Given the description of an element on the screen output the (x, y) to click on. 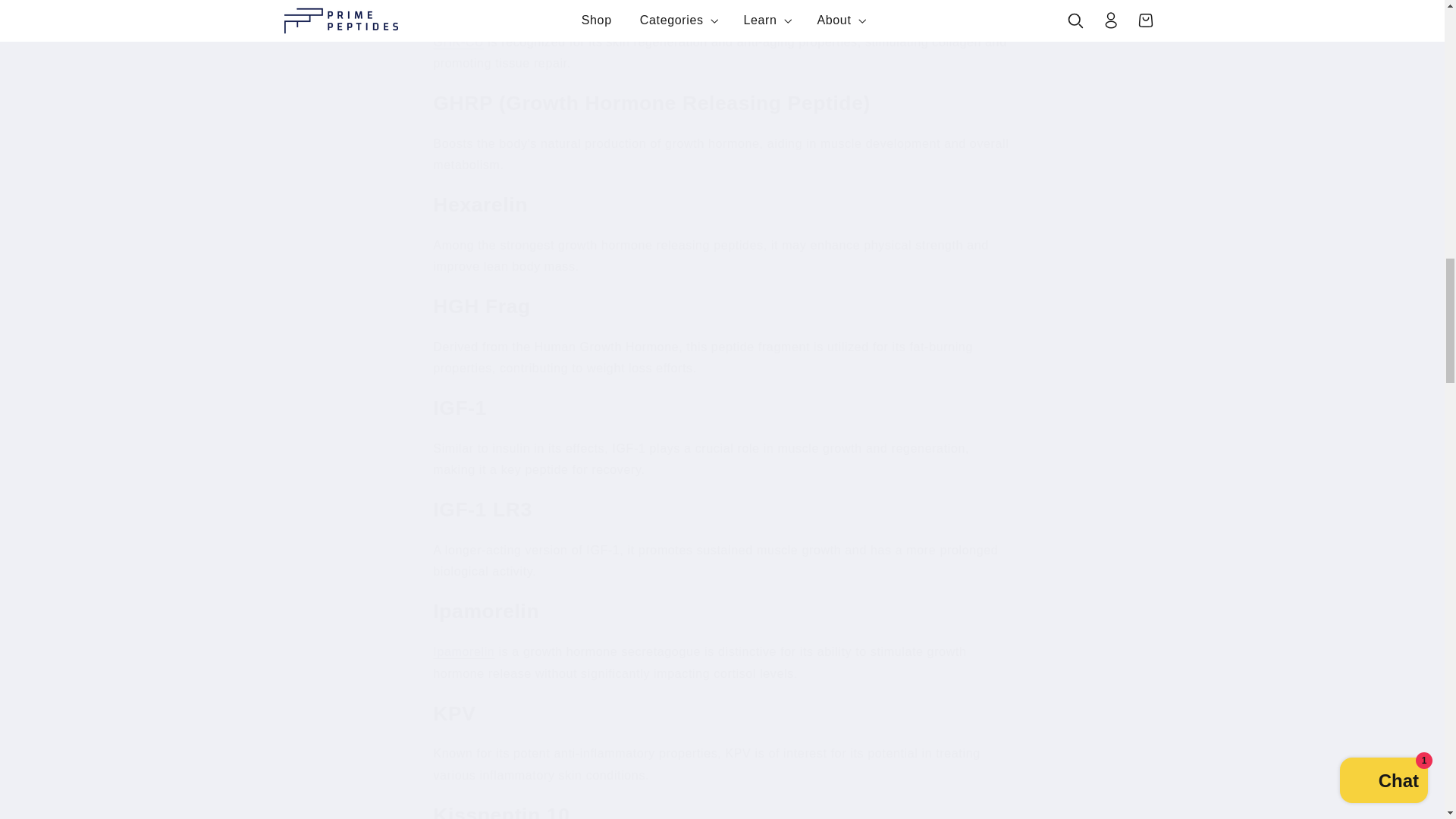
Buy Ipamorelin (463, 651)
GHK-Cu (457, 41)
